Given the description of an element on the screen output the (x, y) to click on. 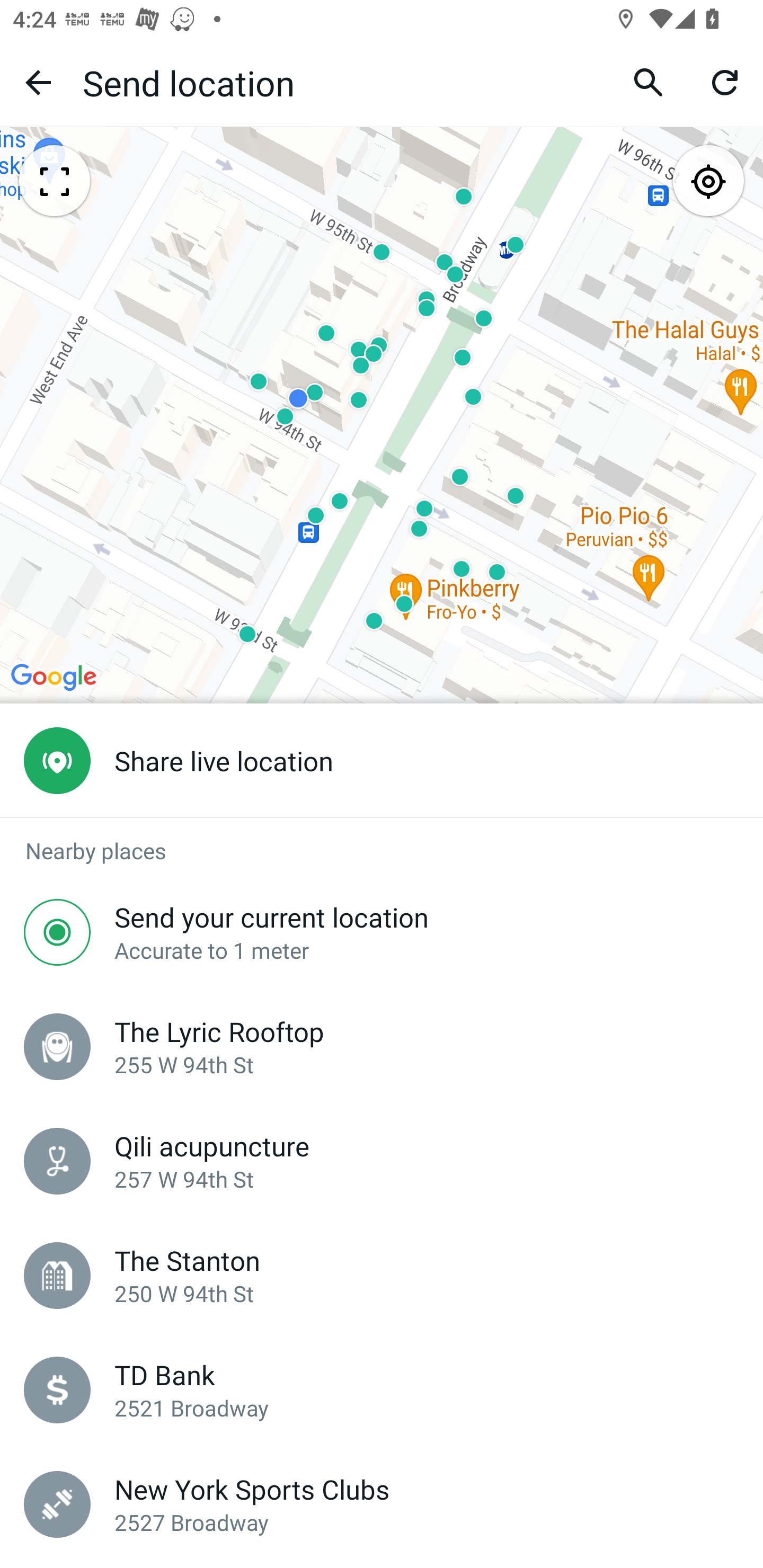
Navigate up (38, 82)
Search (648, 81)
Refresh (724, 81)
Hide places list (54, 181)
Move to your location (707, 181)
Share live location (381, 761)
Send your current location Accurate to 1 meter (381, 931)
The Lyric Rooftop 255 W 94th St (381, 1046)
Qili acupuncture 257 W 94th St (381, 1160)
The Stanton 250 W 94th St (381, 1275)
TD Bank 2521 Broadway (381, 1389)
New York Sports Clubs 2527 Broadway (381, 1504)
